Given the description of an element on the screen output the (x, y) to click on. 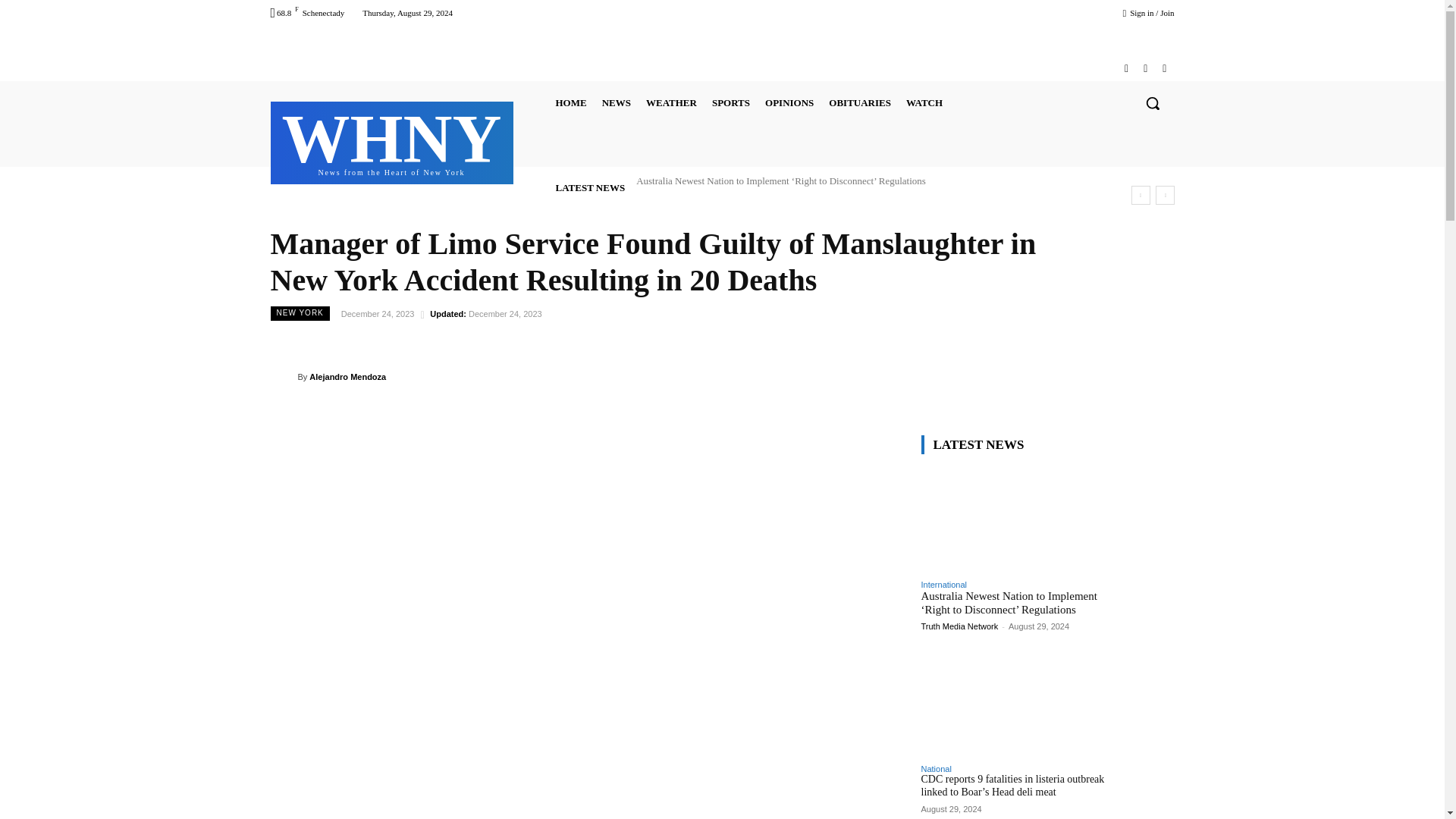
HOME (570, 102)
Twitter (1144, 67)
NEWS (616, 102)
Instagram (1125, 67)
RSS Feed (1163, 67)
